Given the description of an element on the screen output the (x, y) to click on. 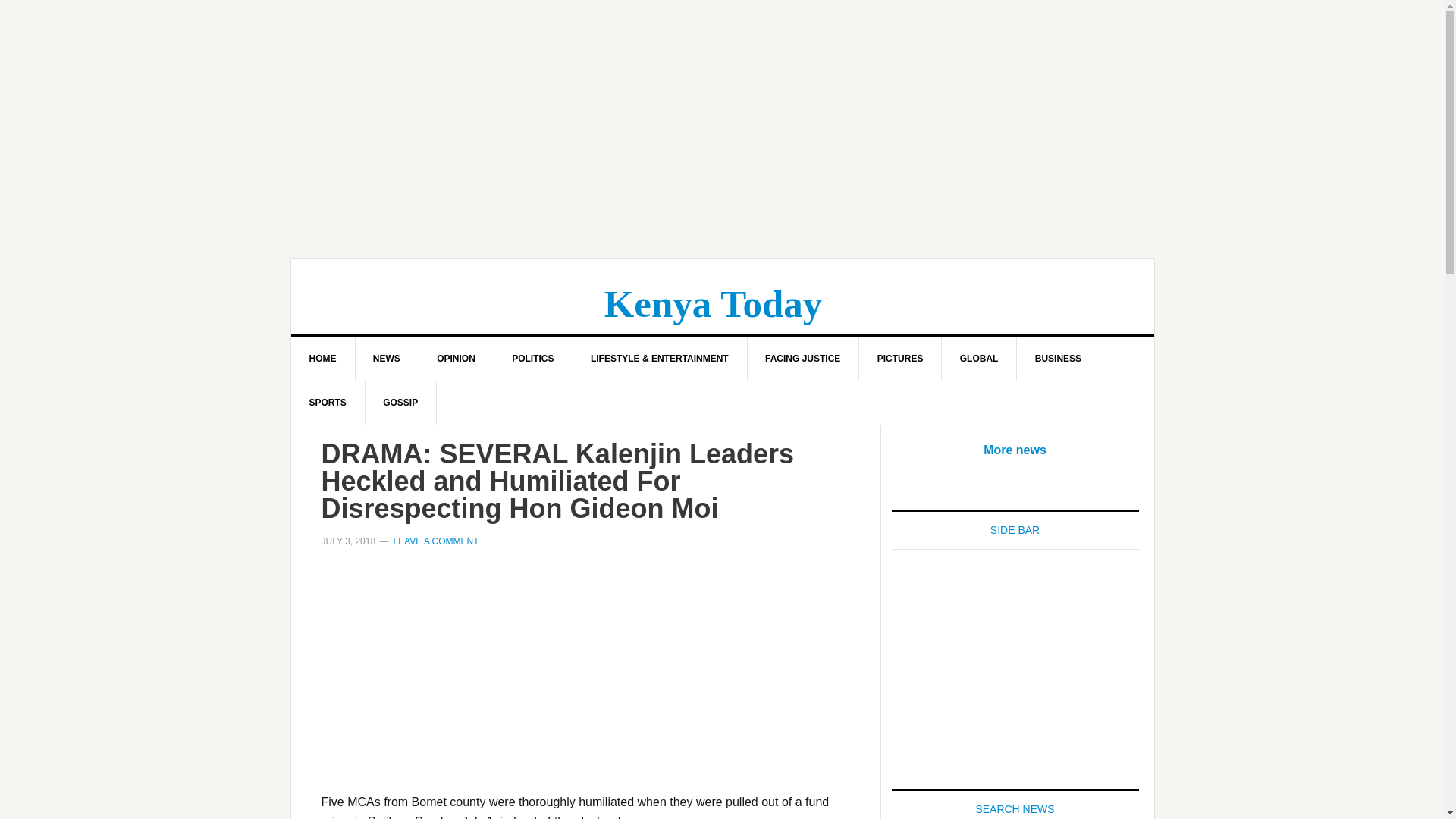
Advertisement (585, 679)
SPORTS (328, 402)
BUSINESS (1058, 358)
PICTURES (900, 358)
HOME (323, 358)
POLITICS (532, 358)
LEAVE A COMMENT (436, 541)
OPINION (457, 358)
GLOBAL (979, 358)
